Given the description of an element on the screen output the (x, y) to click on. 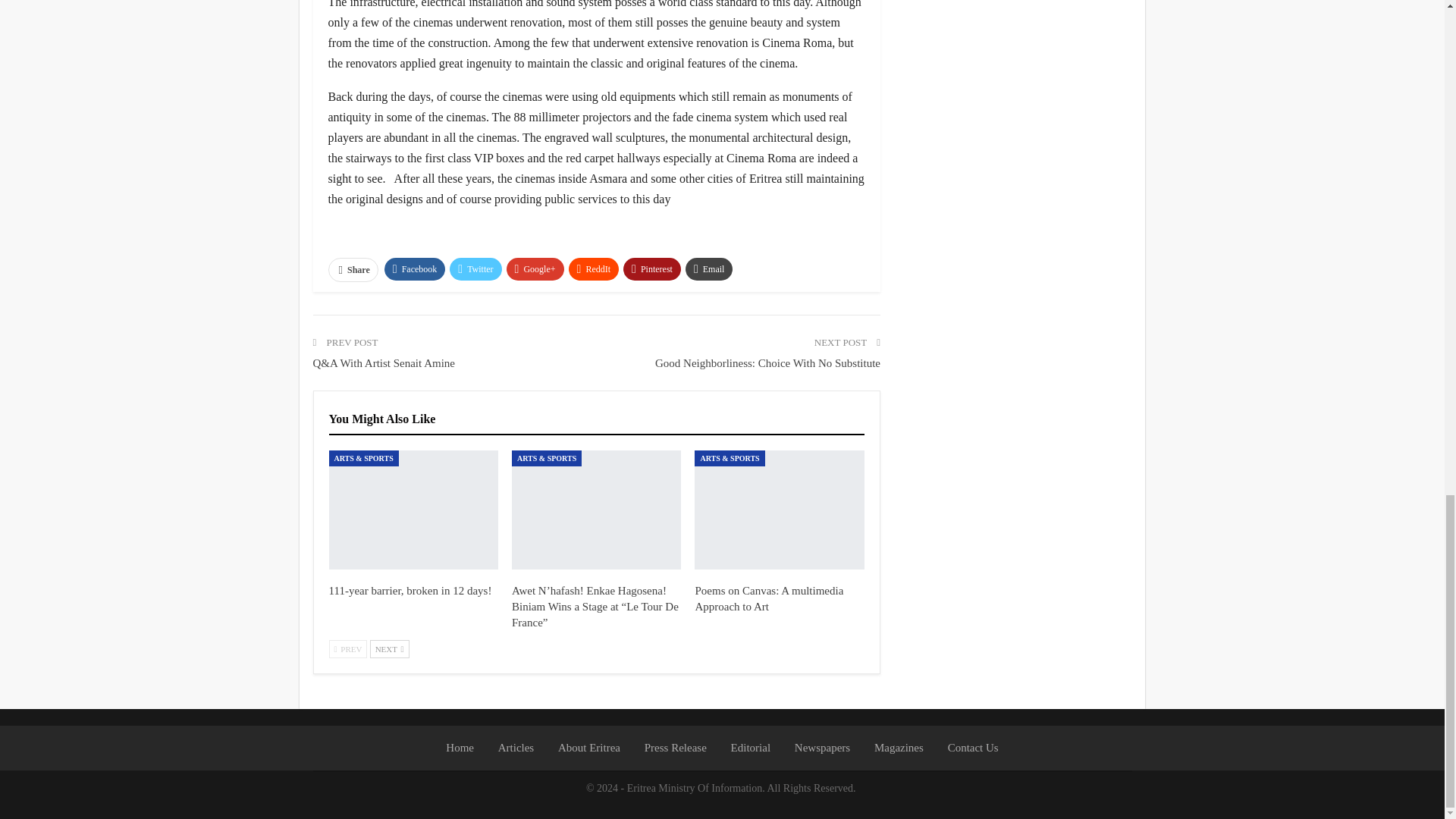
Previous (348, 648)
Poems on Canvas: A multimedia Approach to Art (768, 598)
Poems on Canvas: A multimedia Approach to Art (778, 509)
111-year barrier, broken in 12 days! (410, 590)
Next (389, 648)
111-year barrier, broken in 12 days! (413, 509)
